Given the description of an element on the screen output the (x, y) to click on. 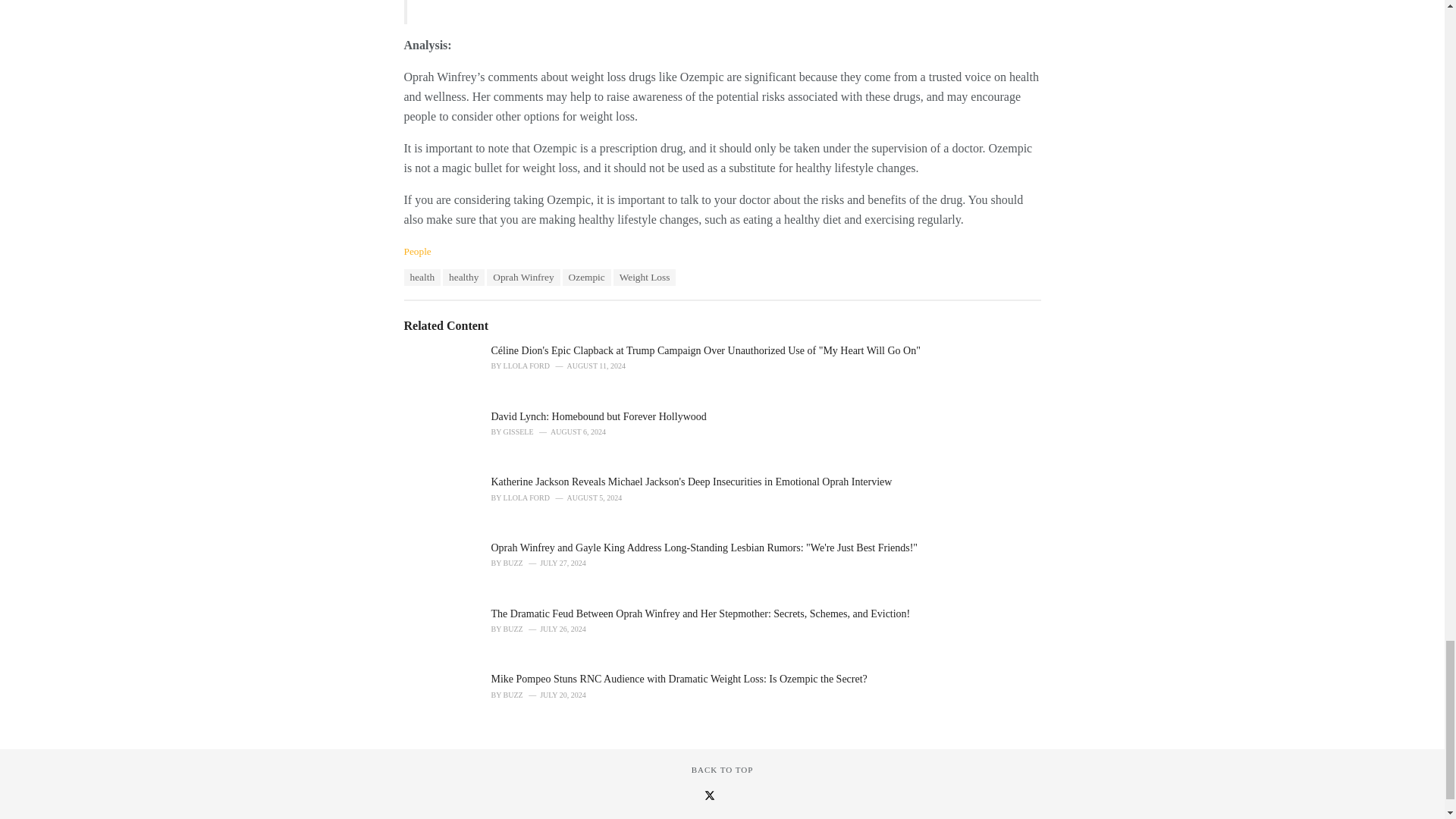
BACK TO TOP (722, 768)
David Lynch: Homebound but Forever Hollywood (599, 416)
People (416, 251)
Weight Loss (644, 277)
Oprah Winfrey (522, 277)
health (422, 277)
healthy (463, 277)
Ozempic (586, 277)
